Given the description of an element on the screen output the (x, y) to click on. 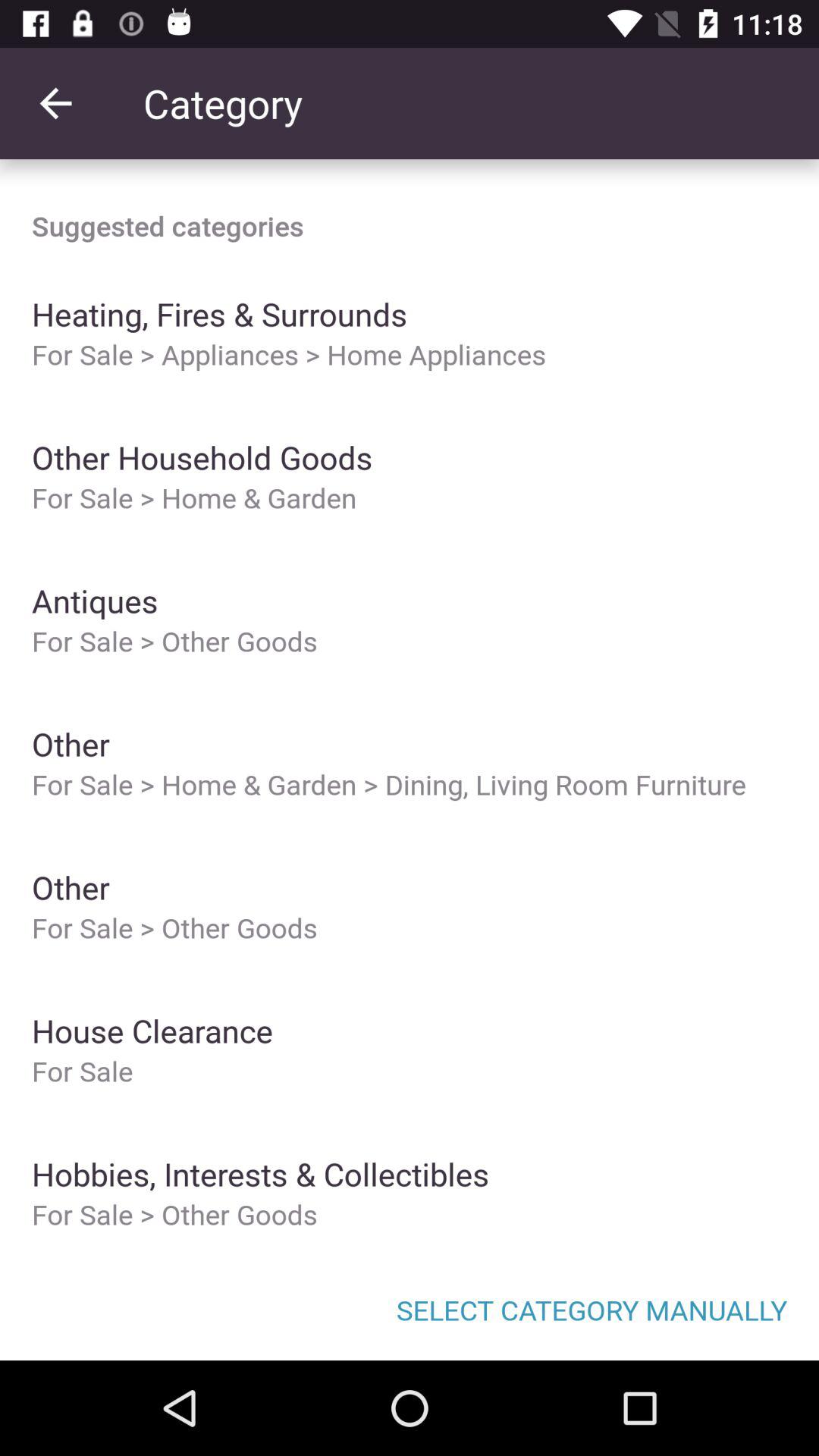
select the item next to the category item (55, 103)
